Given the description of an element on the screen output the (x, y) to click on. 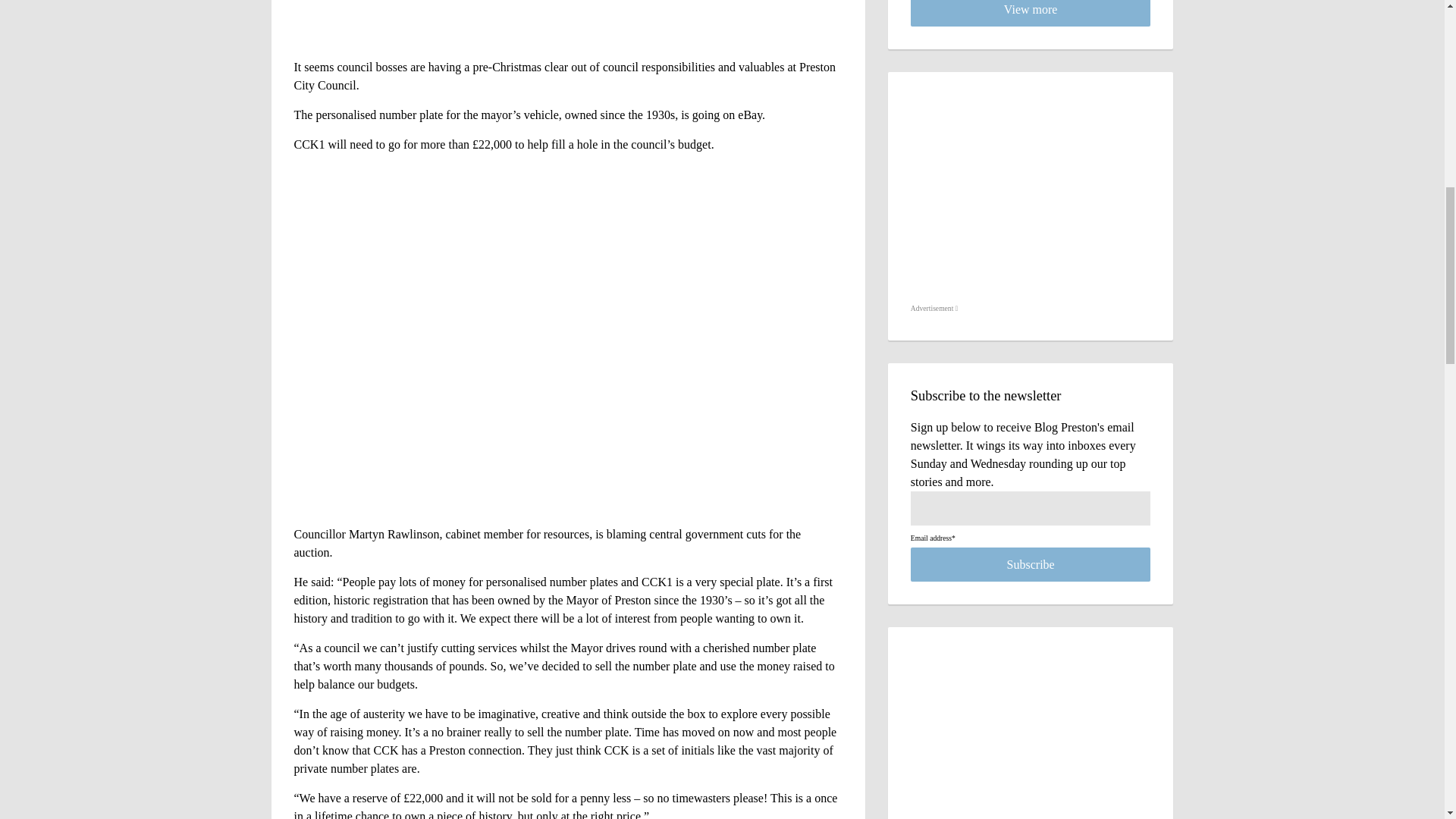
Advertisement (934, 308)
View more (1031, 13)
Subscribe (1031, 564)
Subscribe (1031, 564)
